Given the description of an element on the screen output the (x, y) to click on. 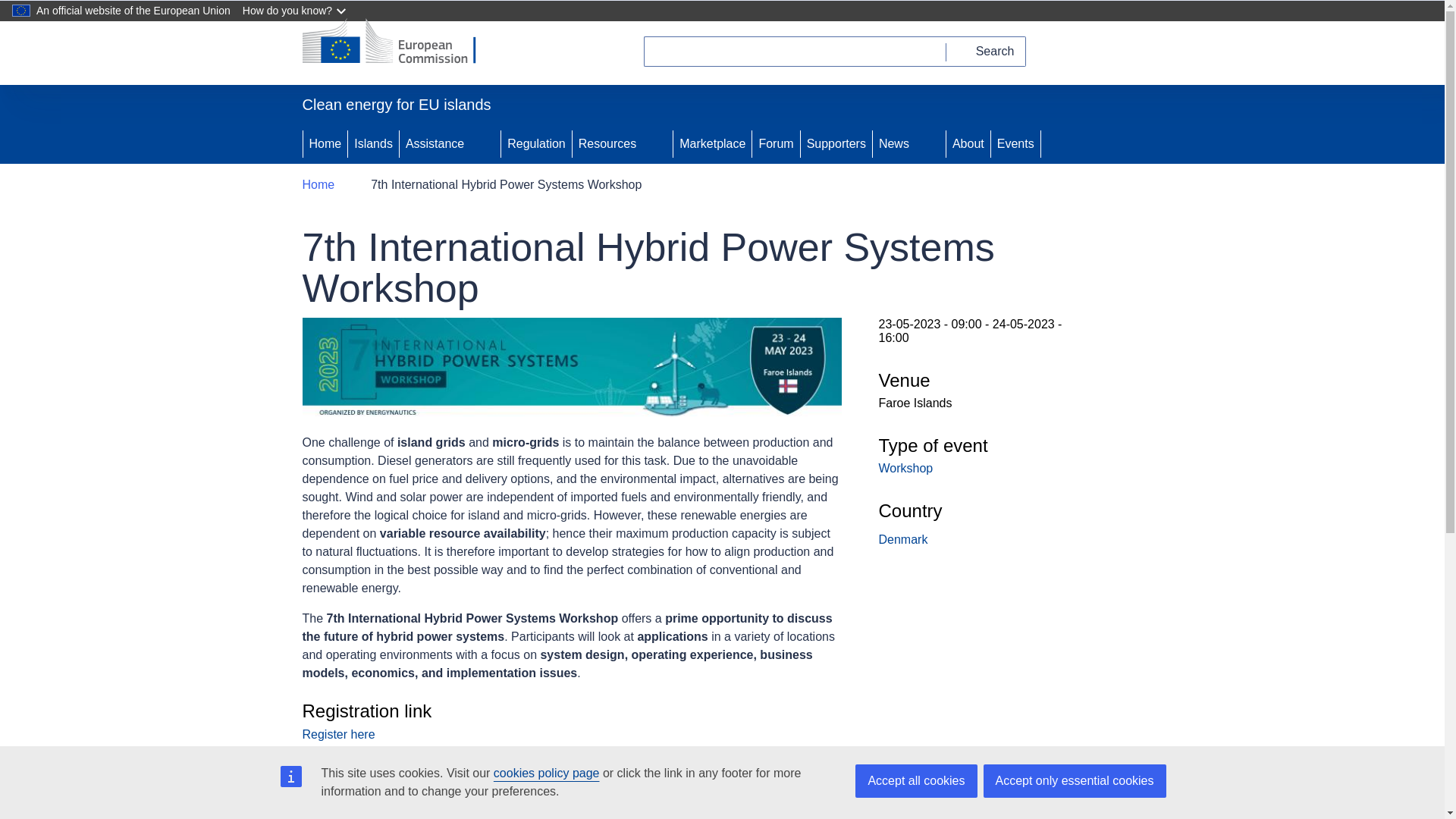
Supporters (836, 143)
Accept only essential cookies (1074, 780)
News (892, 143)
Marketplace (711, 143)
Forum (775, 143)
European Commission (399, 42)
How do you know? (295, 10)
Home (324, 143)
cookies policy page (546, 772)
